Given the description of an element on the screen output the (x, y) to click on. 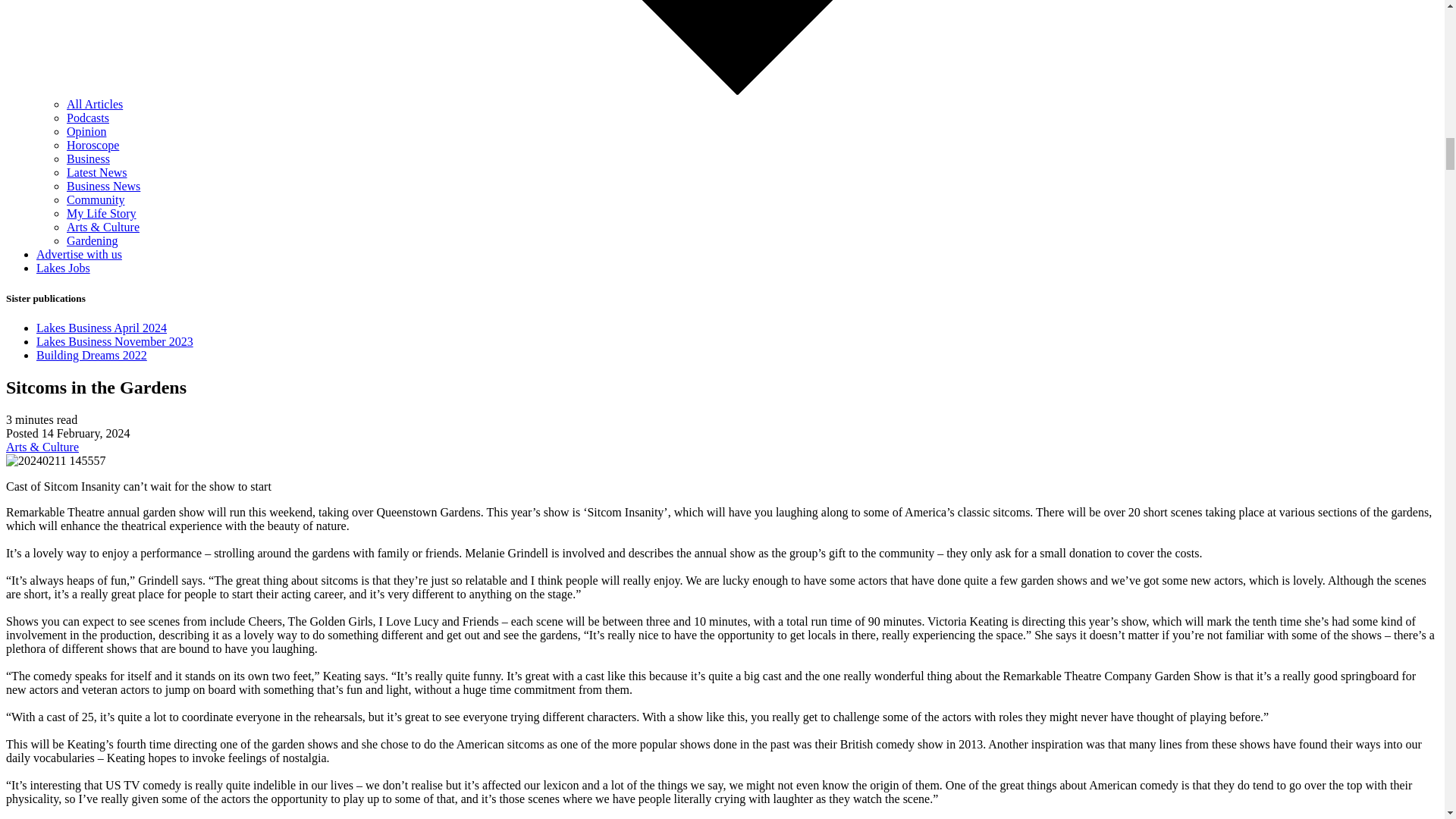
Lakes Jobs (63, 267)
Business (88, 158)
Podcasts (87, 117)
Gardening (91, 240)
My Life Story (101, 213)
Community (94, 199)
All Articles (94, 103)
Opinion (86, 131)
Lakes Business April 2024 (101, 327)
Lakes Business November 2023 (114, 341)
